Given the description of an element on the screen output the (x, y) to click on. 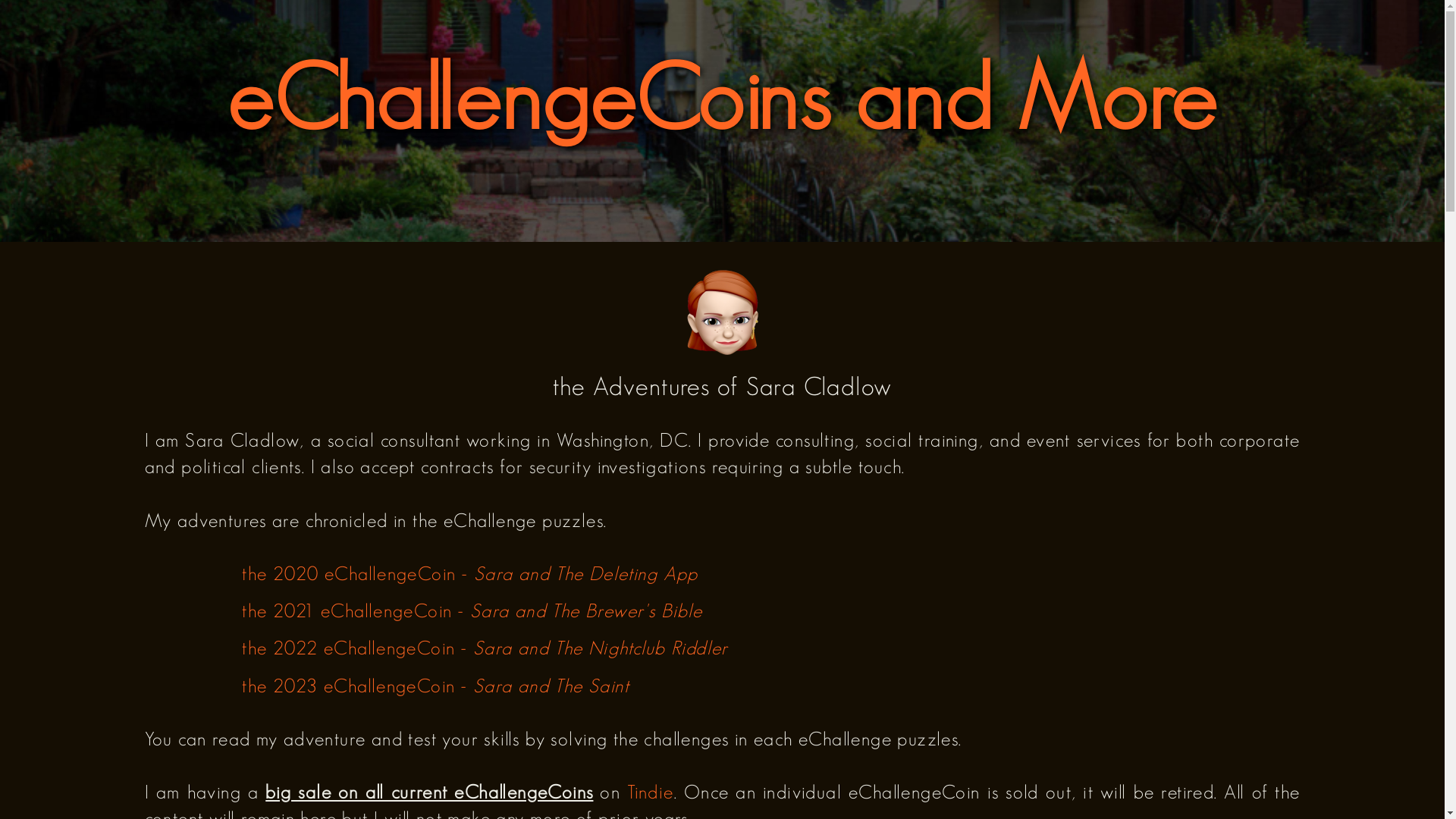
the 2022 eChallengeCoin - Sara and The Nightclub Riddler Element type: text (484, 647)
the 2020 eChallengeCoin - Sara and The Deleting App Element type: text (469, 572)
the 2023 eChallengeCoin - Sara and The Saint Element type: text (435, 685)
Tindie Element type: text (650, 791)
the 2021 eChallengeCoin - Sara and The Brewer's Bible Element type: text (471, 610)
AoSC Element type: hover (721, 311)
